Given the description of an element on the screen output the (x, y) to click on. 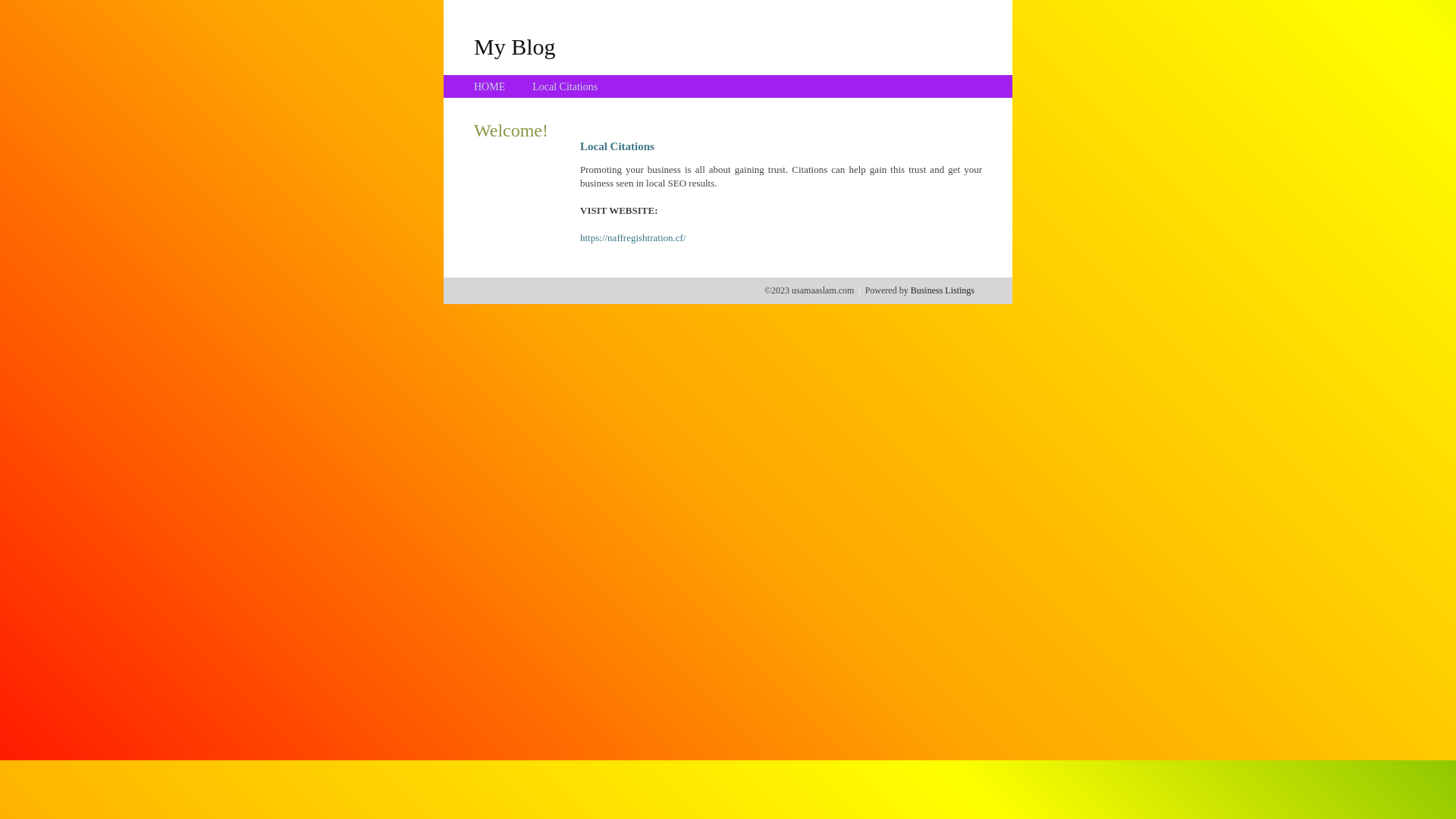
https://naffregishtration.cf/ Element type: text (632, 237)
Business Listings Element type: text (942, 290)
HOME Element type: text (489, 86)
My Blog Element type: text (514, 46)
Local Citations Element type: text (564, 86)
